Given the description of an element on the screen output the (x, y) to click on. 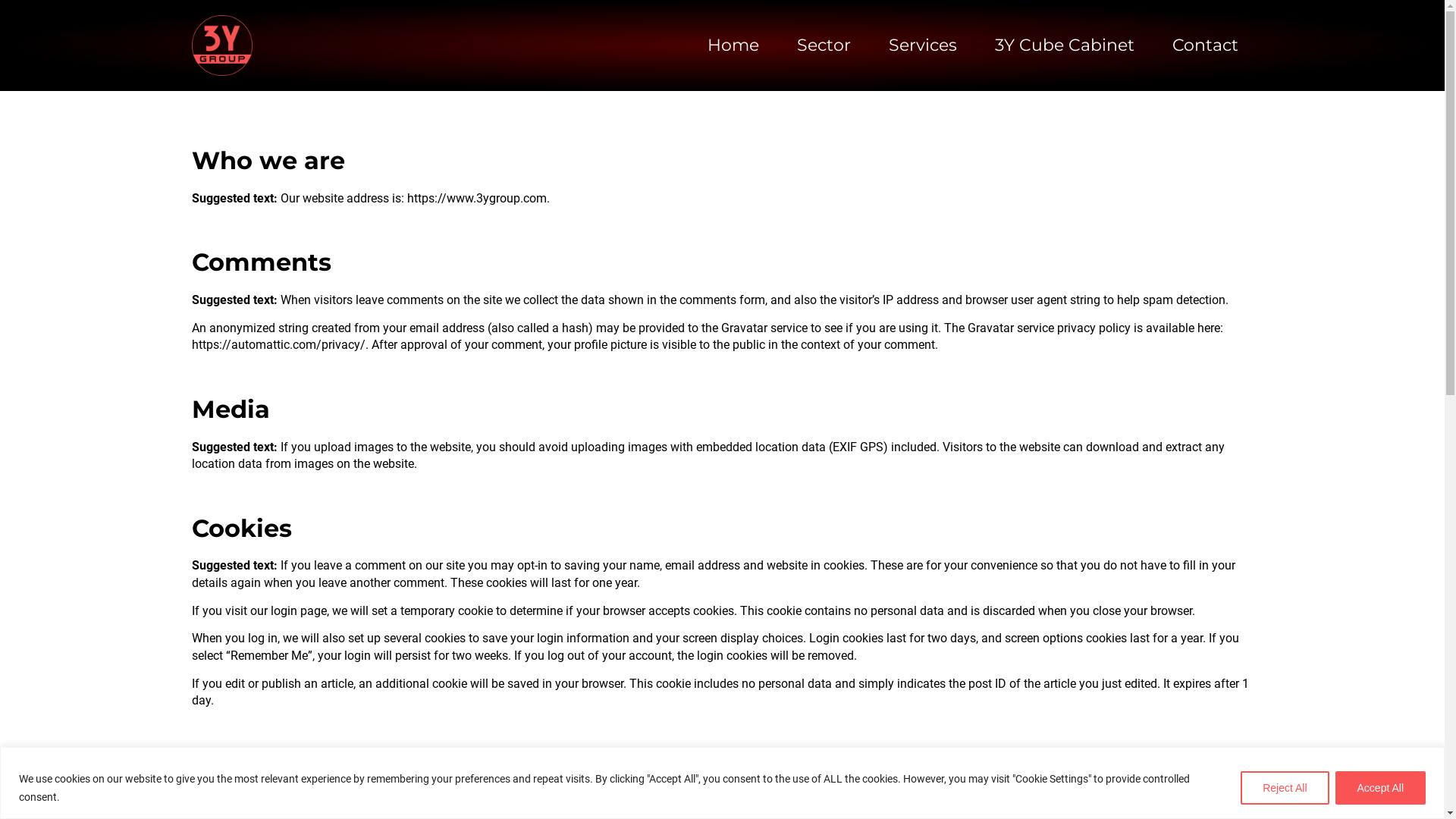
Sector Element type: text (823, 45)
Reject All Element type: text (1284, 786)
Services Element type: text (922, 45)
Home Element type: text (732, 45)
3Y Cube Cabinet Element type: text (1064, 45)
Accept All Element type: text (1380, 786)
Contact Element type: text (1205, 45)
